Given the description of an element on the screen output the (x, y) to click on. 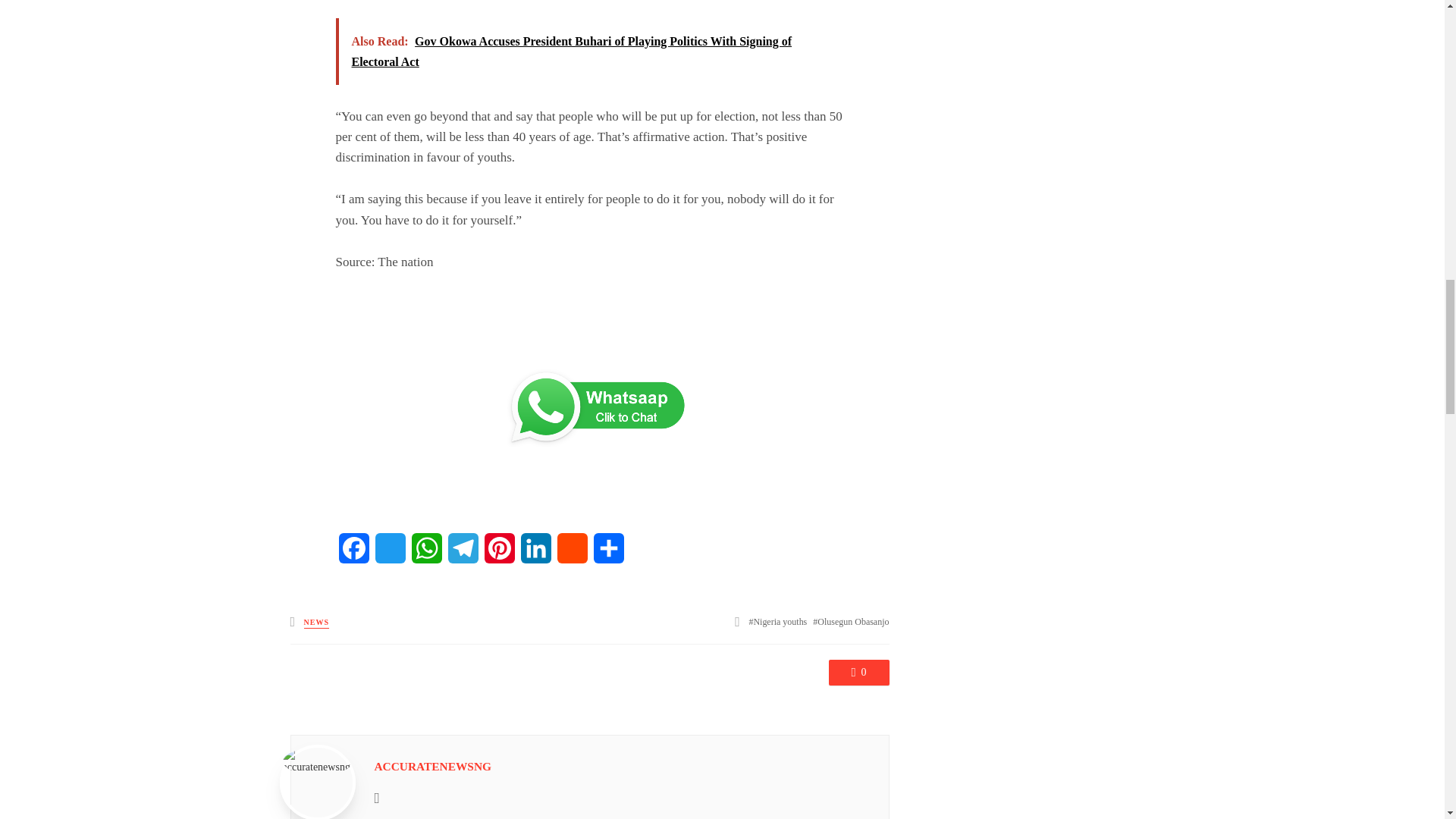
Posts by accuratenewsng (433, 766)
